Given the description of an element on the screen output the (x, y) to click on. 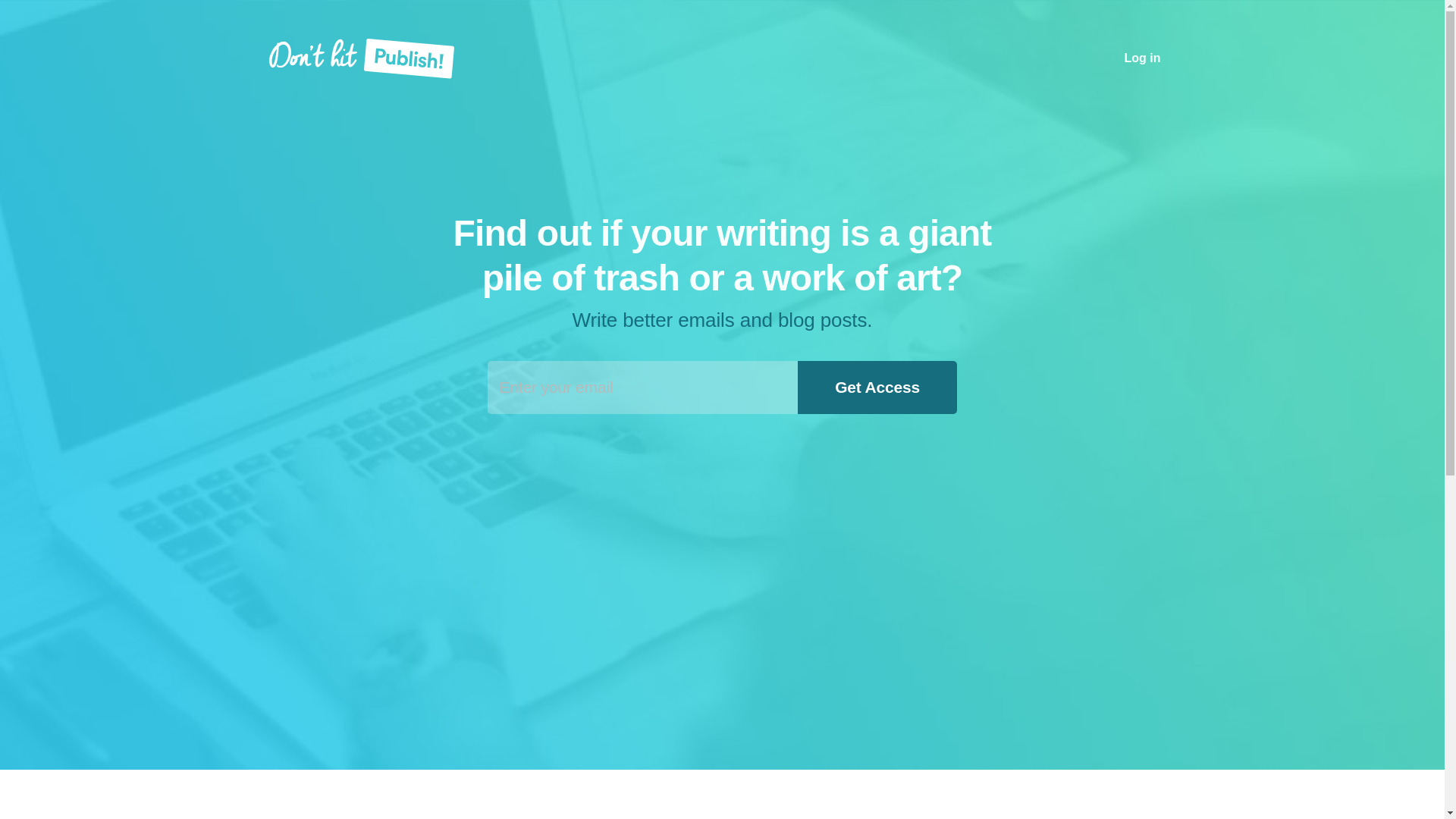
Log in (1142, 57)
Get Access (877, 387)
